Given the description of an element on the screen output the (x, y) to click on. 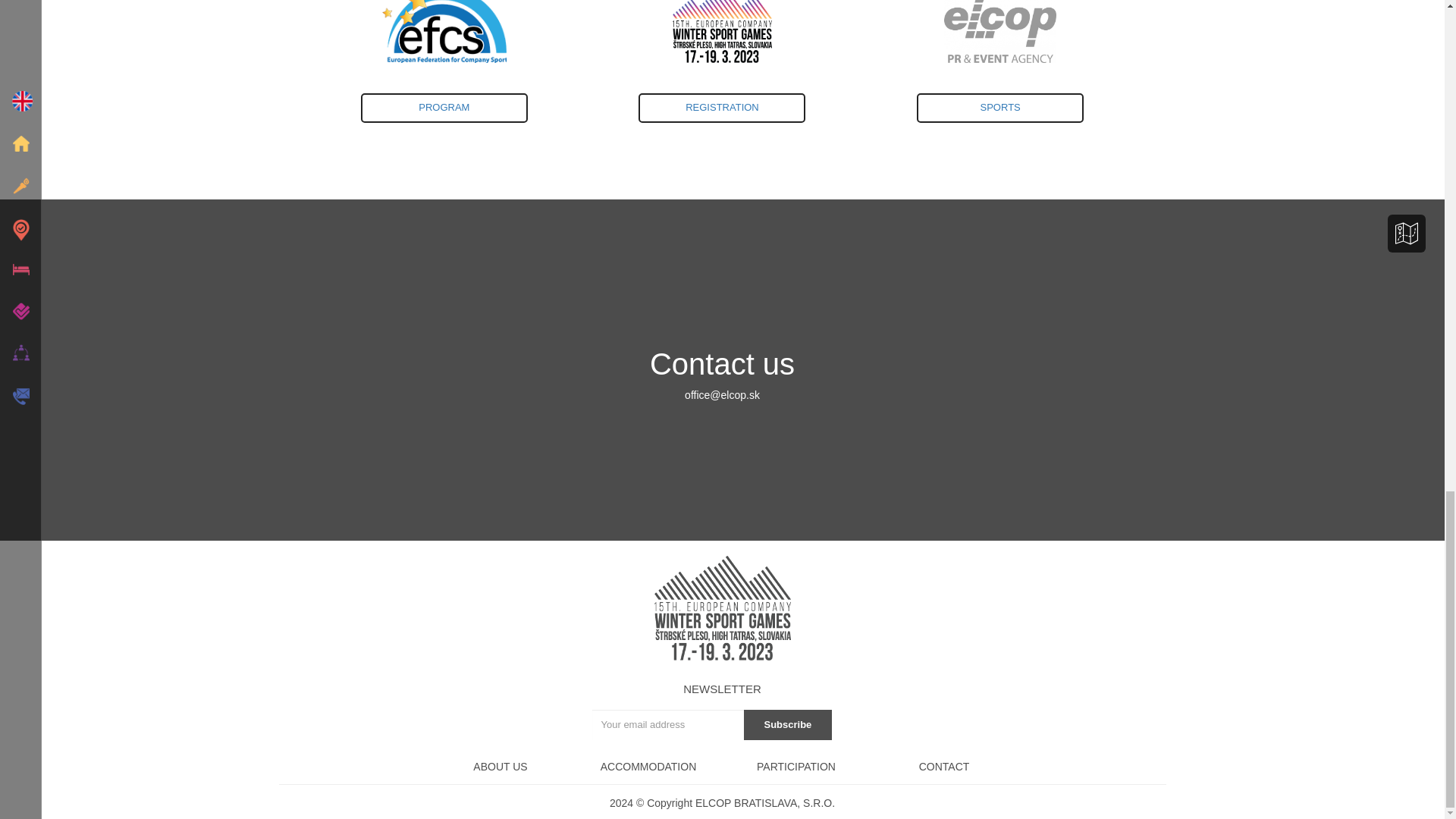
REGISTRATION (722, 107)
PARTICIPATION (796, 766)
ACCOMMODATION (648, 766)
ABOUT US (500, 766)
PROGRAM (722, 114)
CONTACT (444, 107)
Subscribe (943, 766)
Subscribe (786, 725)
SPORTS (786, 725)
